Given the description of an element on the screen output the (x, y) to click on. 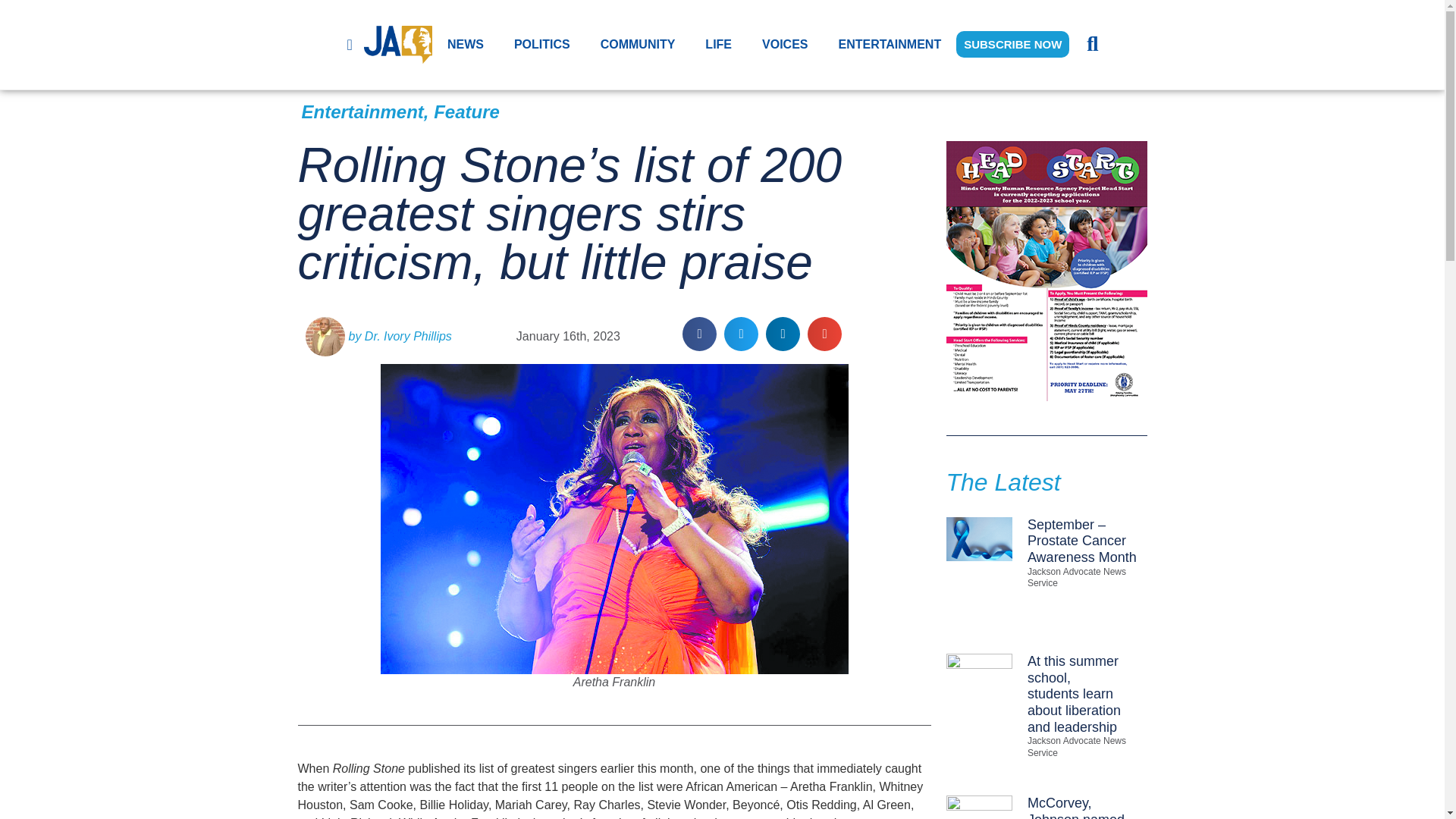
POLITICS (542, 44)
VOICES (784, 44)
by Dr. Ivory Phillips (377, 336)
Entertainment (362, 111)
Feature (466, 111)
LIFE (718, 44)
ENTERTAINMENT (890, 44)
COMMUNITY (637, 44)
SUBSCRIBE NOW (1012, 44)
NEWS (465, 44)
